Given the description of an element on the screen output the (x, y) to click on. 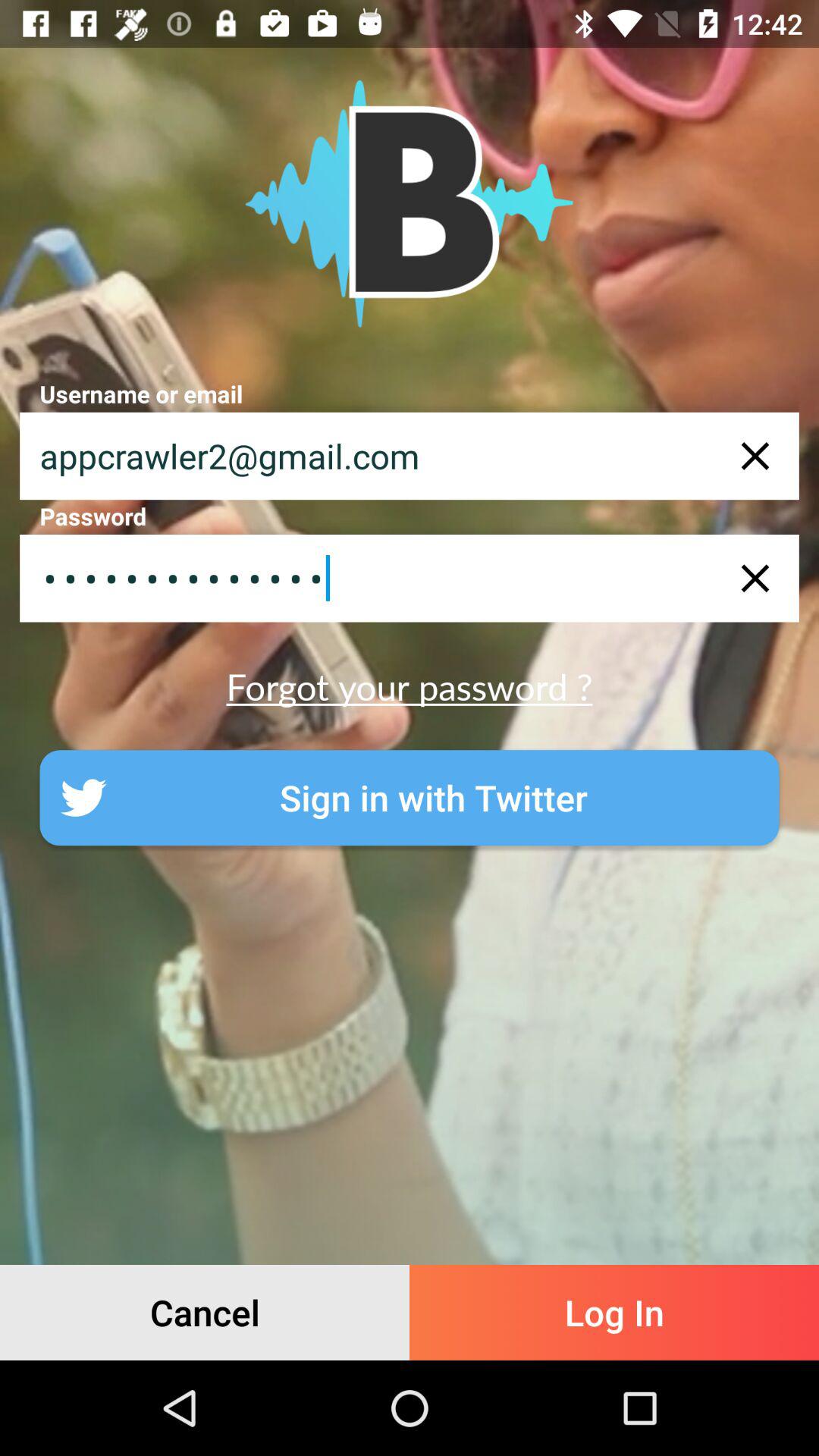
turn on item above forgot your password ? item (409, 578)
